Given the description of an element on the screen output the (x, y) to click on. 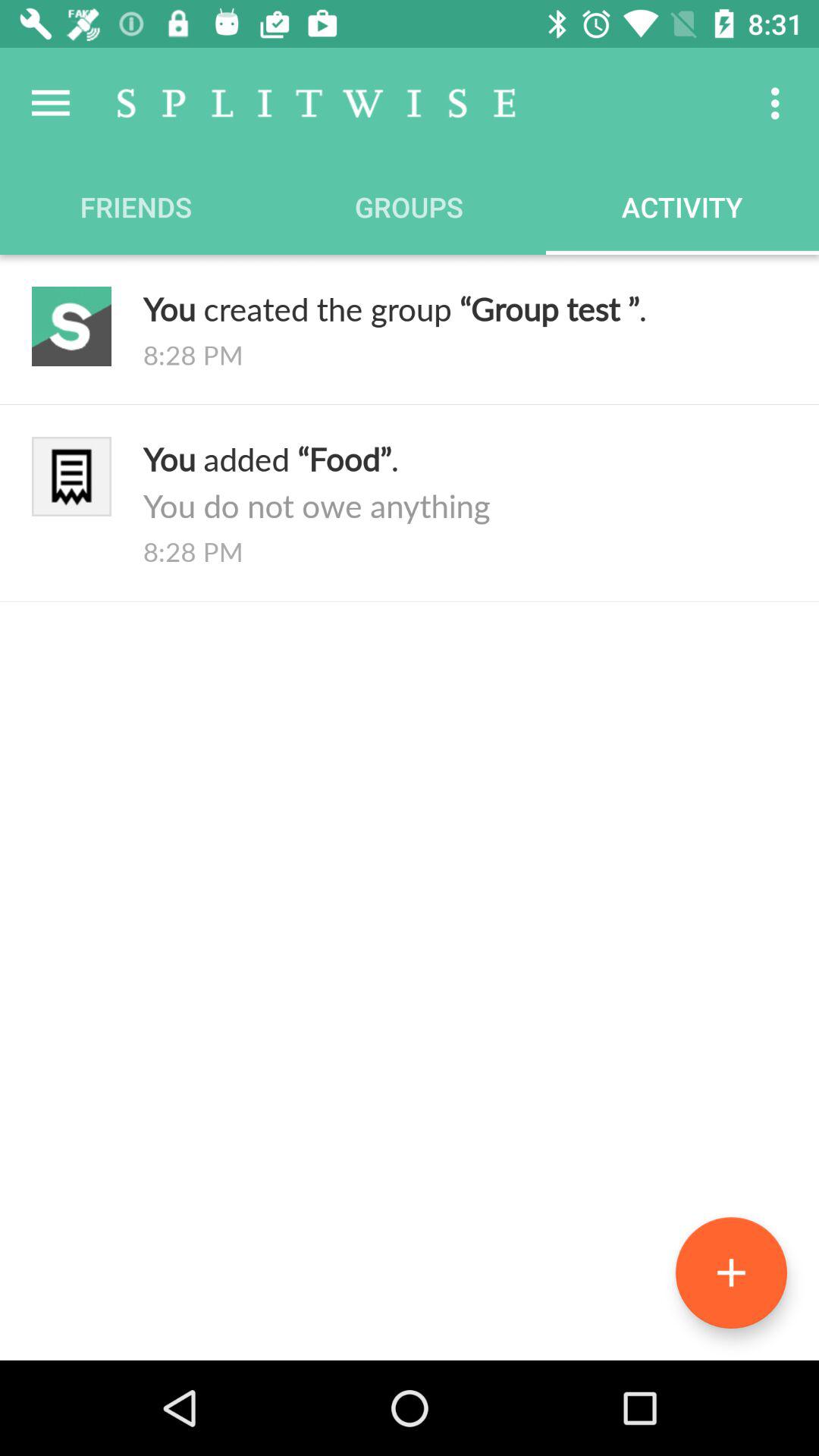
jump until the you added food item (465, 481)
